Given the description of an element on the screen output the (x, y) to click on. 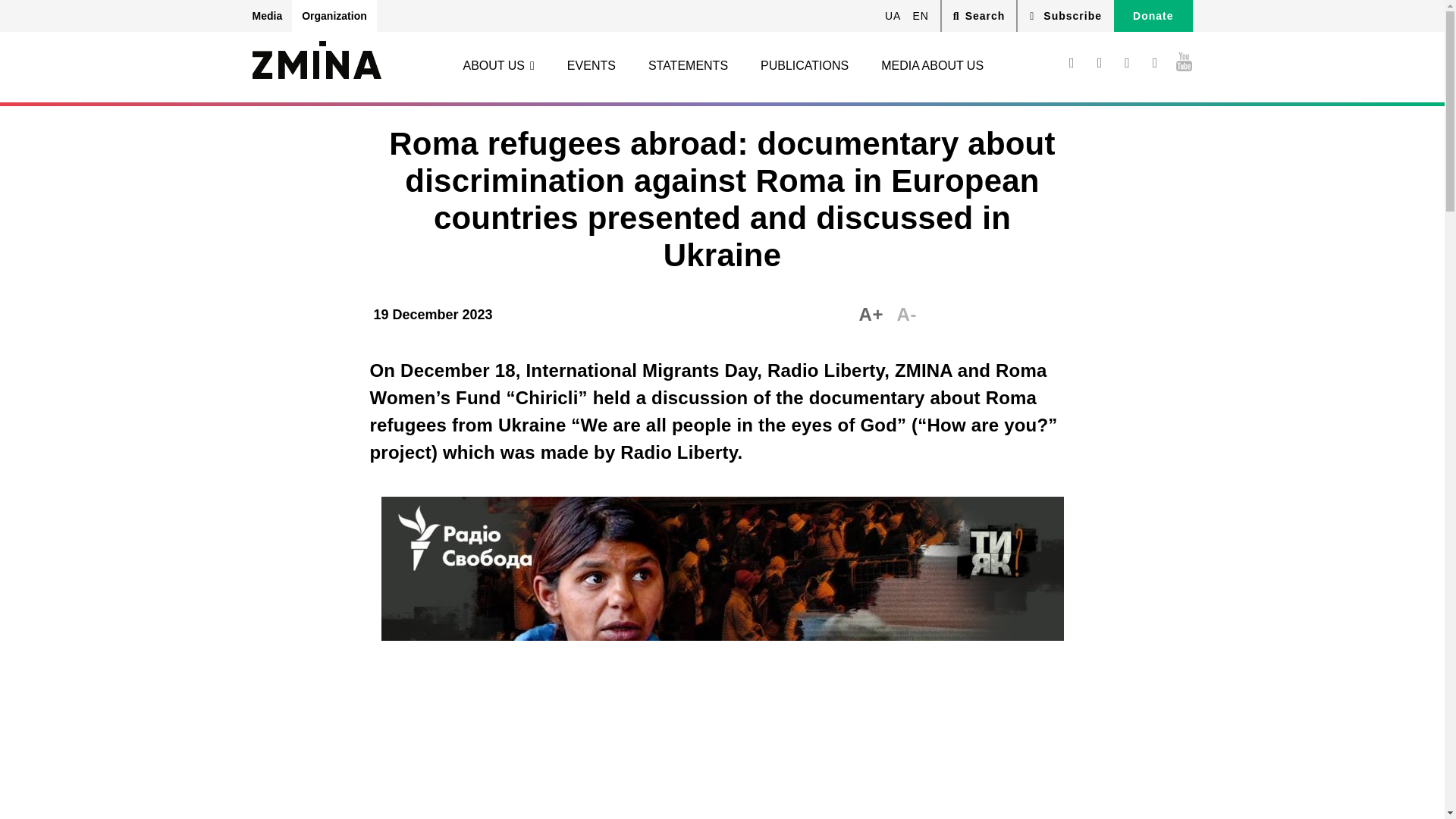
ABOUT US (498, 65)
PUBLICATIONS (804, 65)
MEDIA ABOUT US (932, 65)
Media (271, 15)
Organization (334, 15)
Subscribe (1065, 15)
Search (979, 15)
Donate (1152, 15)
STATEMENTS (687, 65)
EVENTS (591, 65)
